Given the description of an element on the screen output the (x, y) to click on. 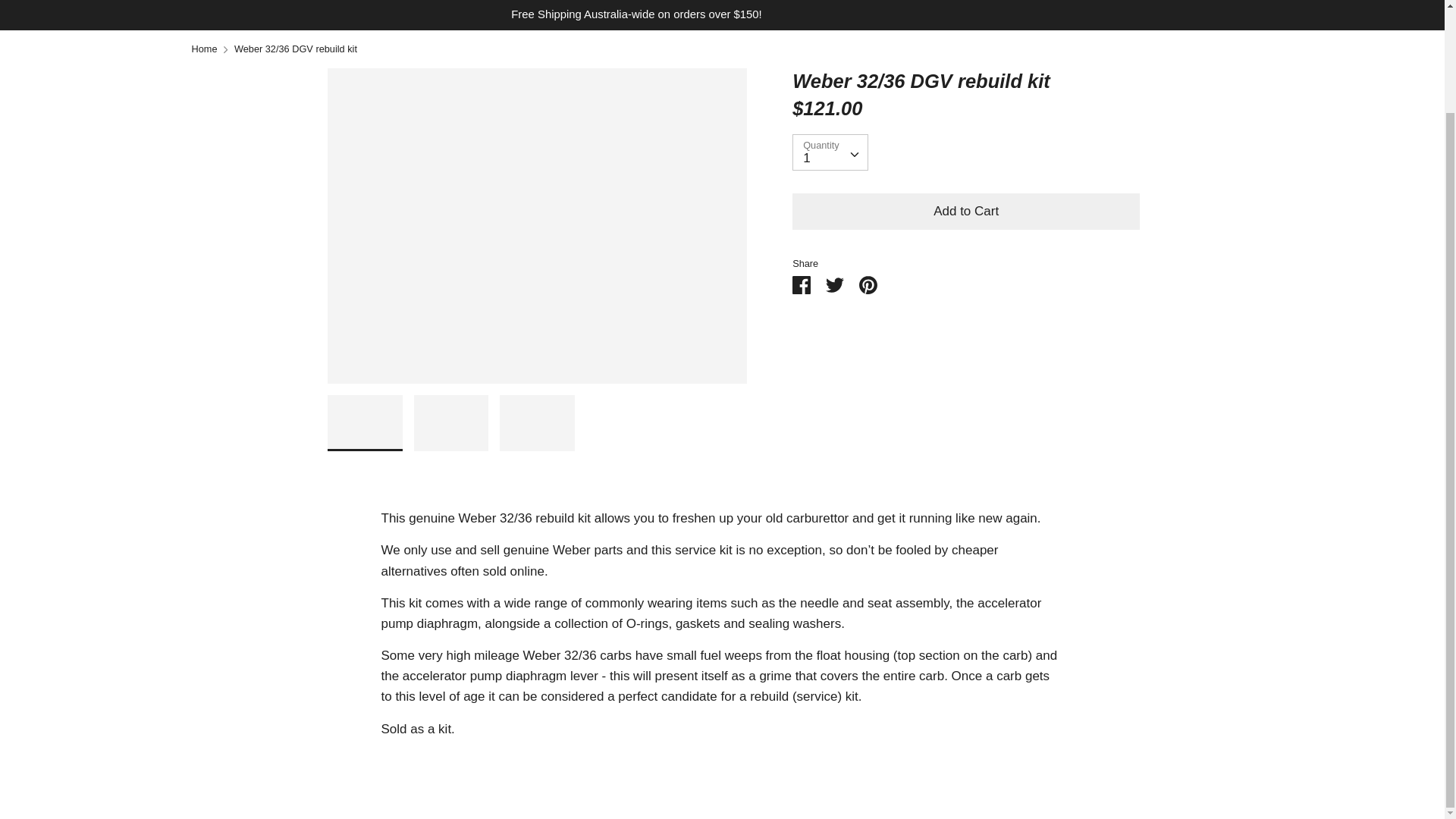
Shop Pay (1168, 648)
Mastercard (1101, 648)
Union Pay (1203, 648)
Google Pay (1066, 648)
1 (830, 151)
Visa (1236, 648)
PayPal (1135, 648)
Apple Pay (1033, 648)
American Express (999, 648)
